Given the description of an element on the screen output the (x, y) to click on. 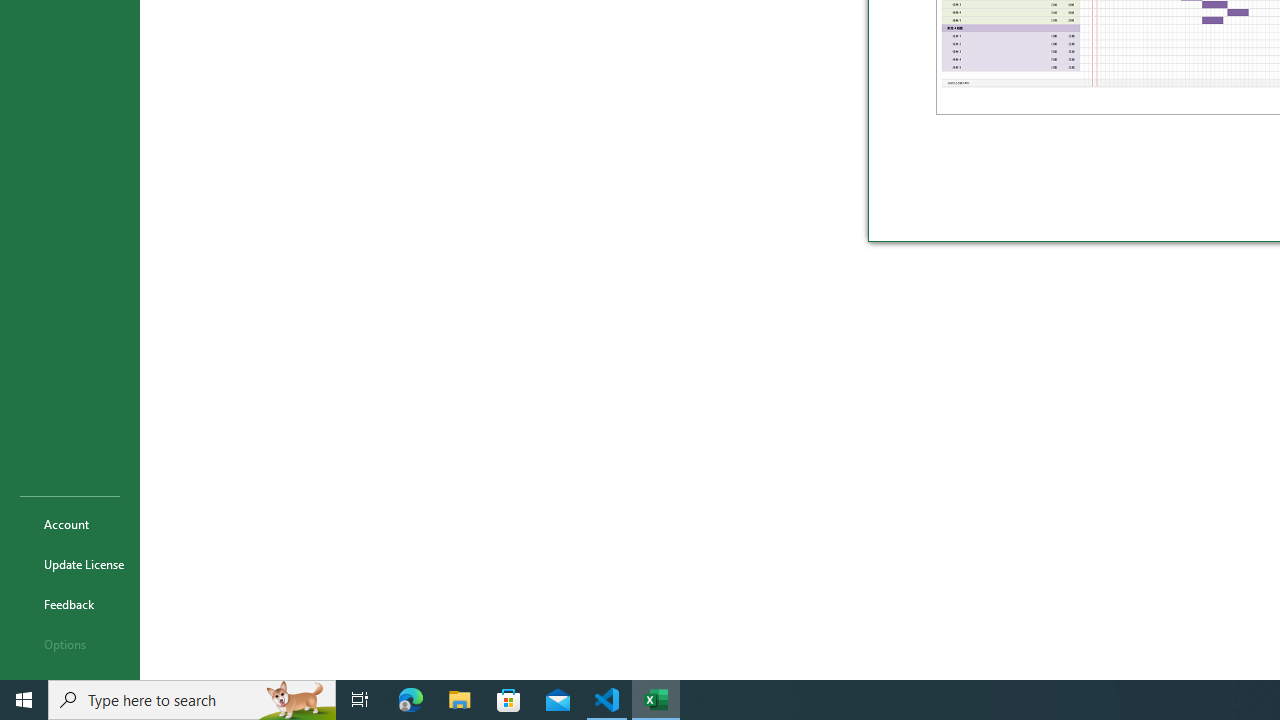
Type here to search (191, 699)
Excel - 1 running window (656, 699)
Task View (359, 699)
Microsoft Store (509, 699)
Feedback (69, 603)
Account (69, 523)
Microsoft Edge (411, 699)
Visual Studio Code - 1 running window (607, 699)
Update License (69, 563)
Start (24, 699)
Search highlights icon opens search home window (295, 699)
File Explorer (460, 699)
Options (69, 643)
